Given the description of an element on the screen output the (x, y) to click on. 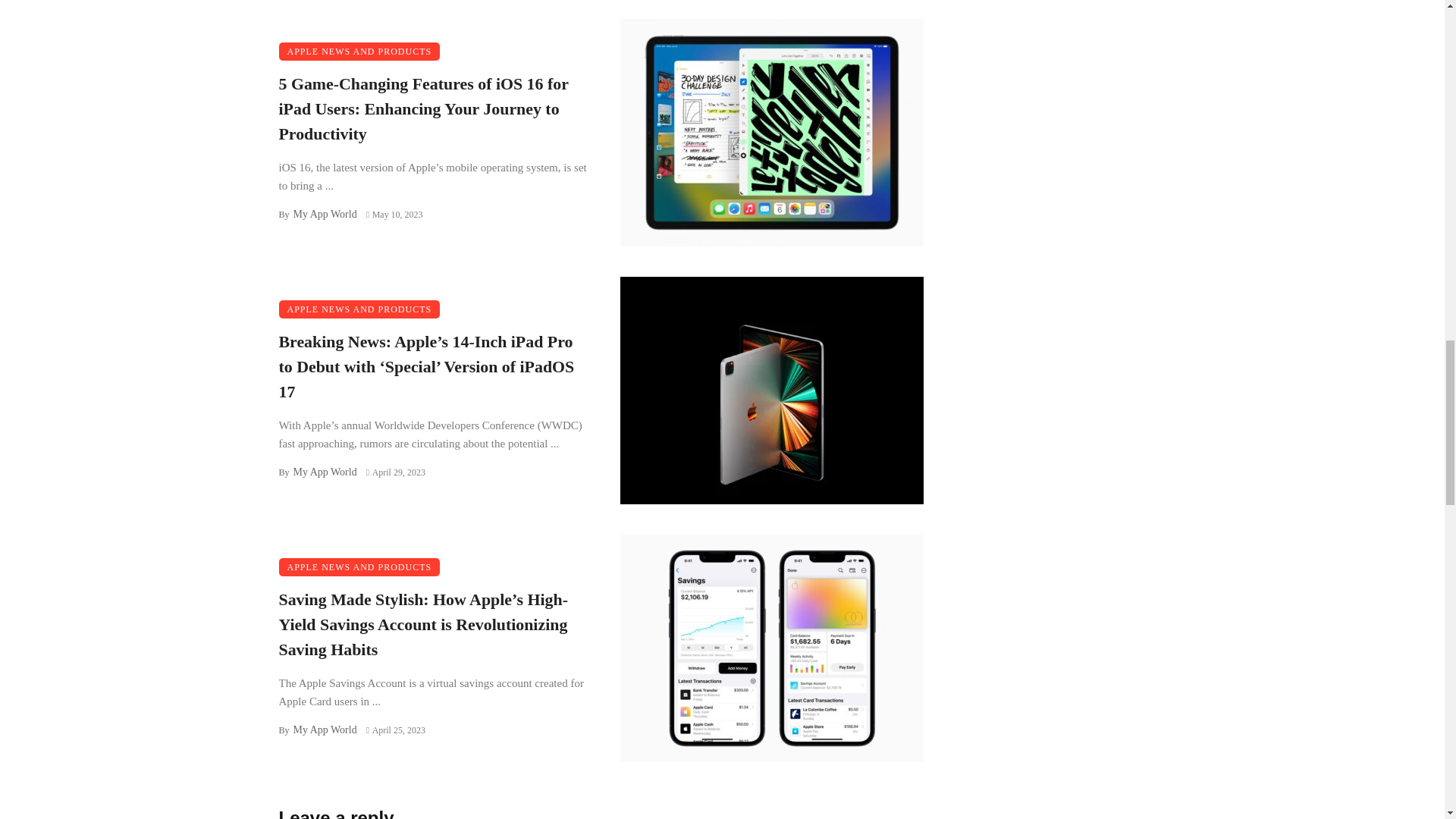
APPLE NEWS AND PRODUCTS (360, 51)
May 10, 2023 at 4:40 pm (394, 214)
April 29, 2023 at 12:53 am (395, 471)
My App World (324, 214)
APPLE NEWS AND PRODUCTS (360, 309)
